Given the description of an element on the screen output the (x, y) to click on. 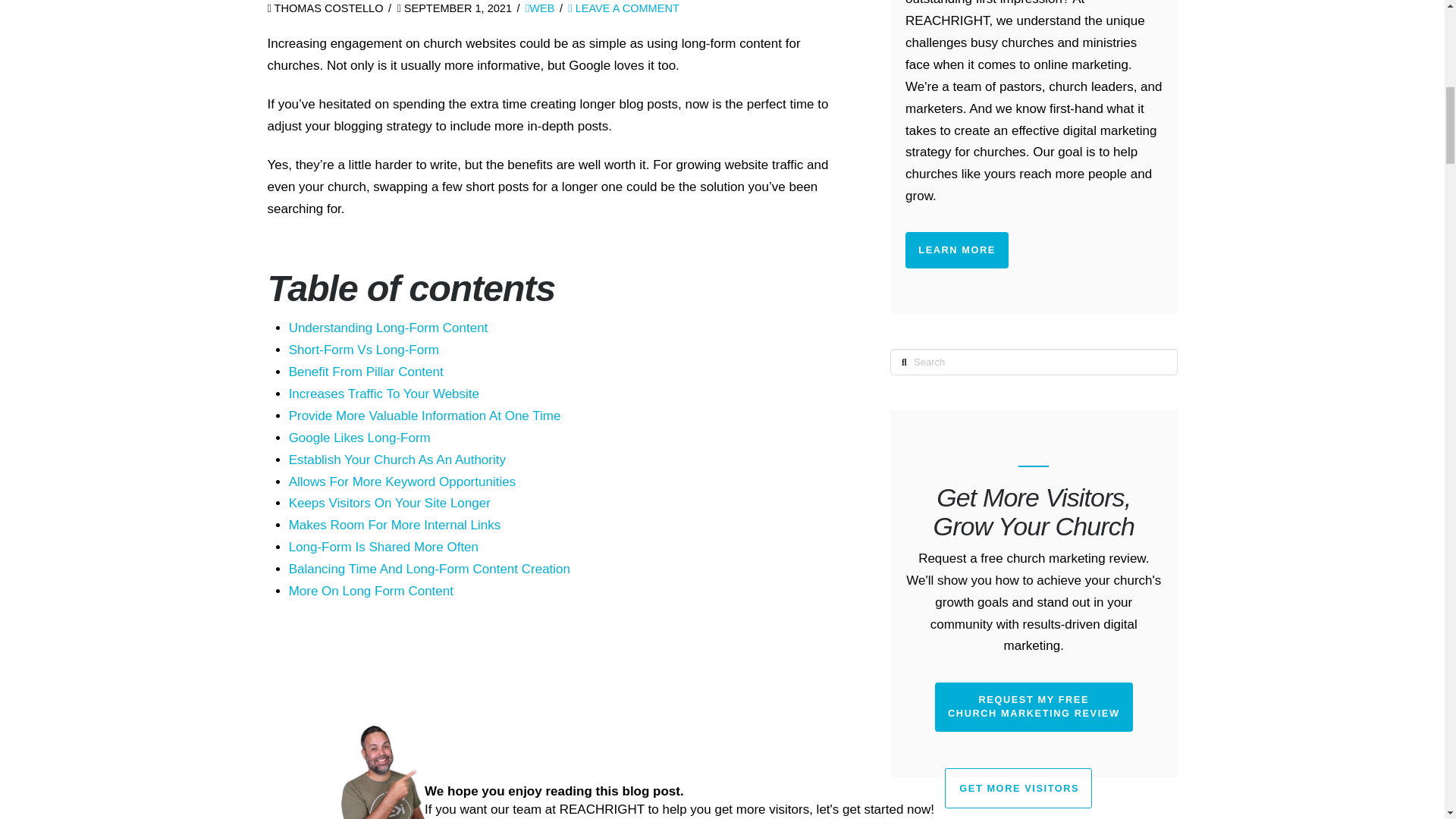
Provide More Valuable Information At One Time (424, 415)
Keeps Visitors On Your Site Longer (389, 503)
Balancing Time And Long-Form Content Creation (429, 568)
Increases Traffic To Your Website (383, 393)
Establish Your Church As An Authority (396, 459)
Makes Room For More Internal Links (394, 524)
Understanding Long-Form Content (387, 327)
Benefit From Pillar Content (366, 371)
More On Long Form Content (370, 590)
LEAVE A COMMENT (623, 8)
